Given the description of an element on the screen output the (x, y) to click on. 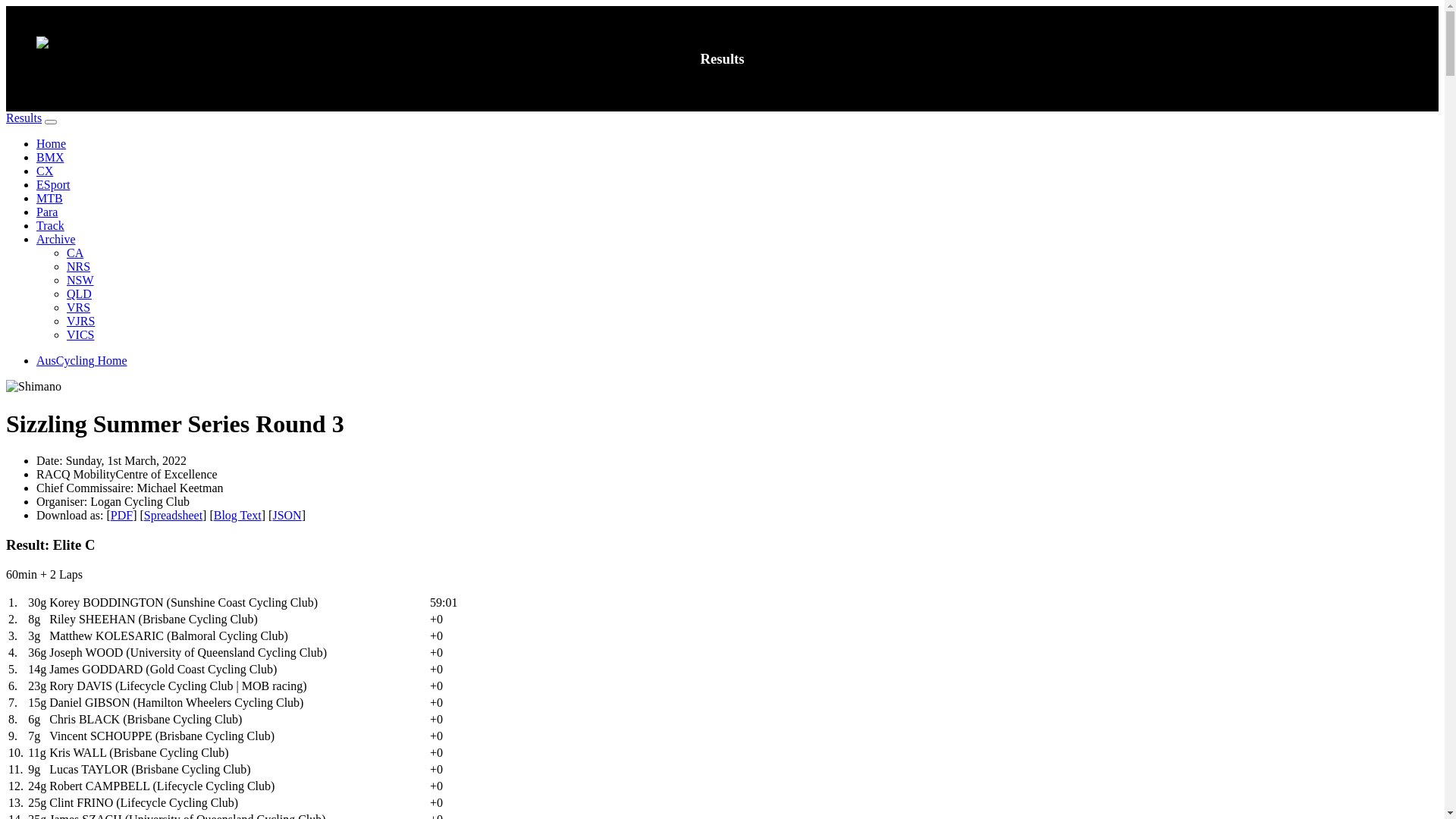
NSW Element type: text (80, 279)
AusCycling Home Element type: text (81, 360)
CA Element type: text (74, 252)
CX Element type: text (44, 170)
Home Element type: text (50, 143)
PDF Element type: text (121, 514)
BMX Element type: text (49, 156)
VJRS Element type: text (80, 320)
VICS Element type: text (80, 334)
VRS Element type: text (78, 307)
Para Element type: text (46, 211)
NRS Element type: text (78, 266)
Results Element type: text (23, 117)
MTB Element type: text (49, 197)
Blog Text Element type: text (237, 514)
Track Element type: text (50, 225)
Archive Element type: text (55, 238)
ESport Element type: text (52, 184)
JSON Element type: text (286, 514)
QLD Element type: text (78, 293)
Spreadsheet Element type: text (173, 514)
